Given the description of an element on the screen output the (x, y) to click on. 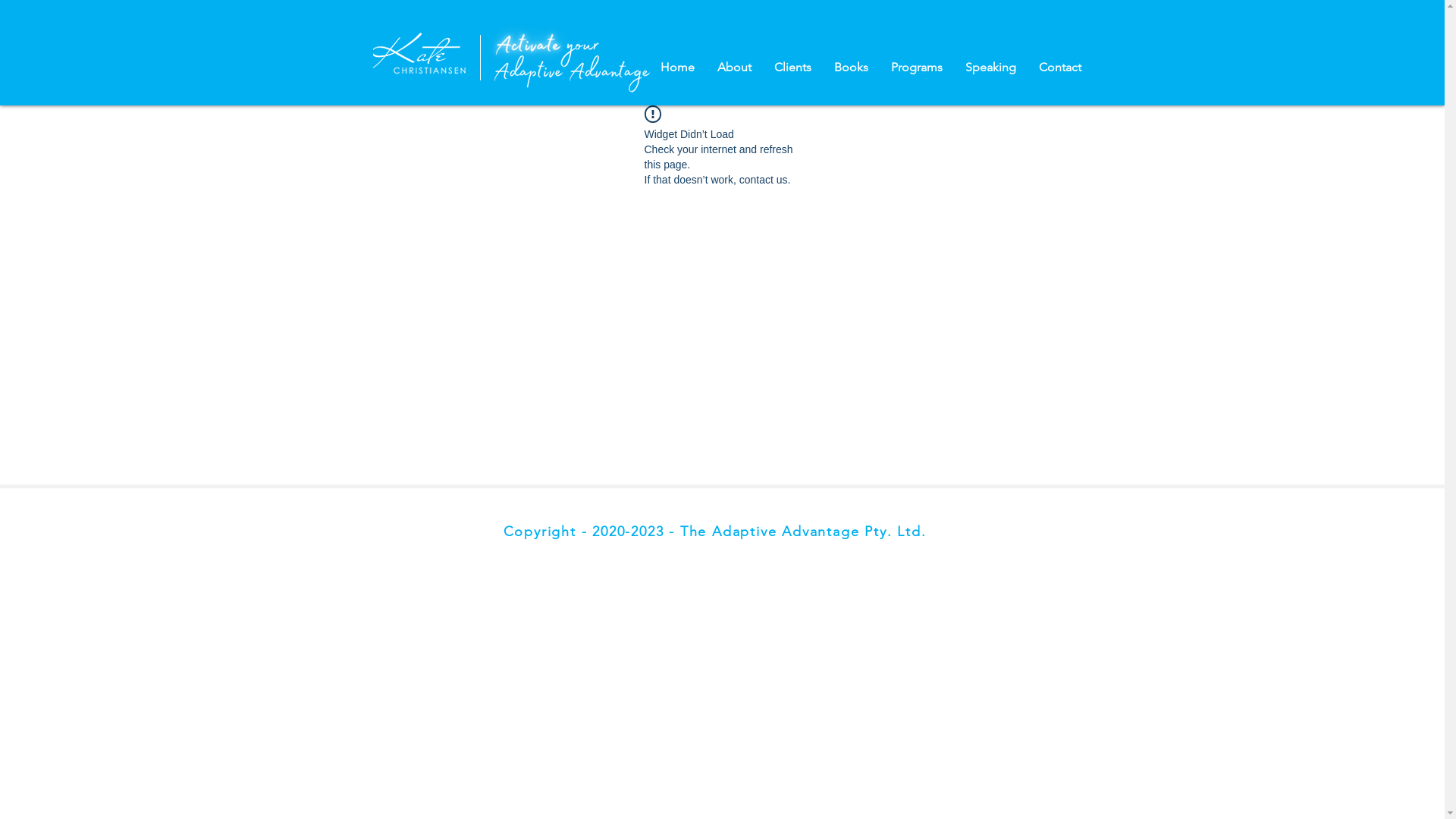
Programs Element type: text (916, 67)
Books Element type: text (850, 67)
Contact Element type: text (1059, 67)
Privacy Policy Element type: text (388, 560)
Speaking Element type: text (990, 67)
Home Element type: text (677, 67)
Clients Element type: text (792, 67)
About Element type: text (733, 67)
